Given the description of an element on the screen output the (x, y) to click on. 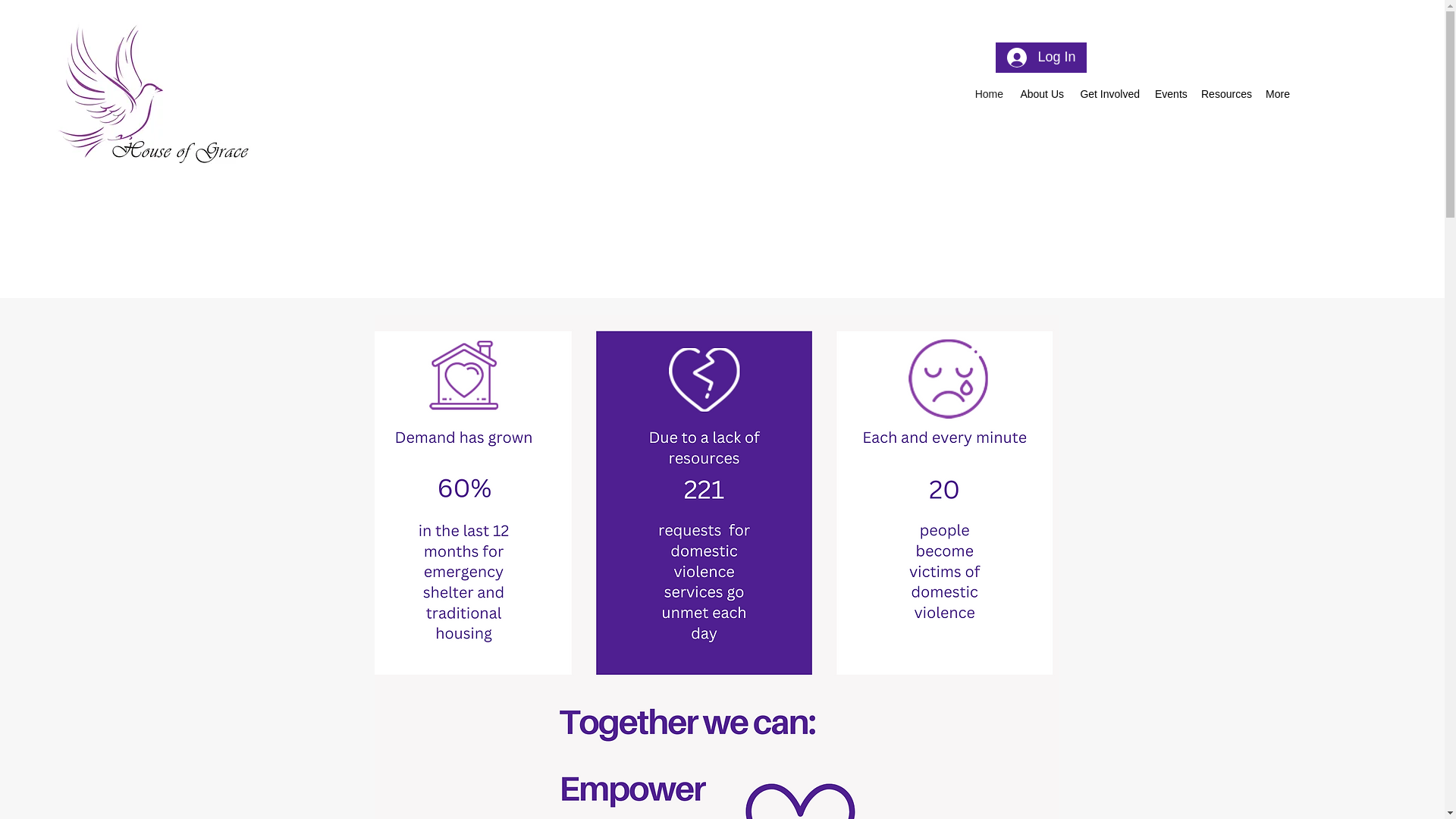
Home (988, 93)
Resources (1225, 93)
Get Involved (1109, 93)
Events (1170, 93)
About Us (1040, 93)
Log In (1040, 57)
